Given the description of an element on the screen output the (x, y) to click on. 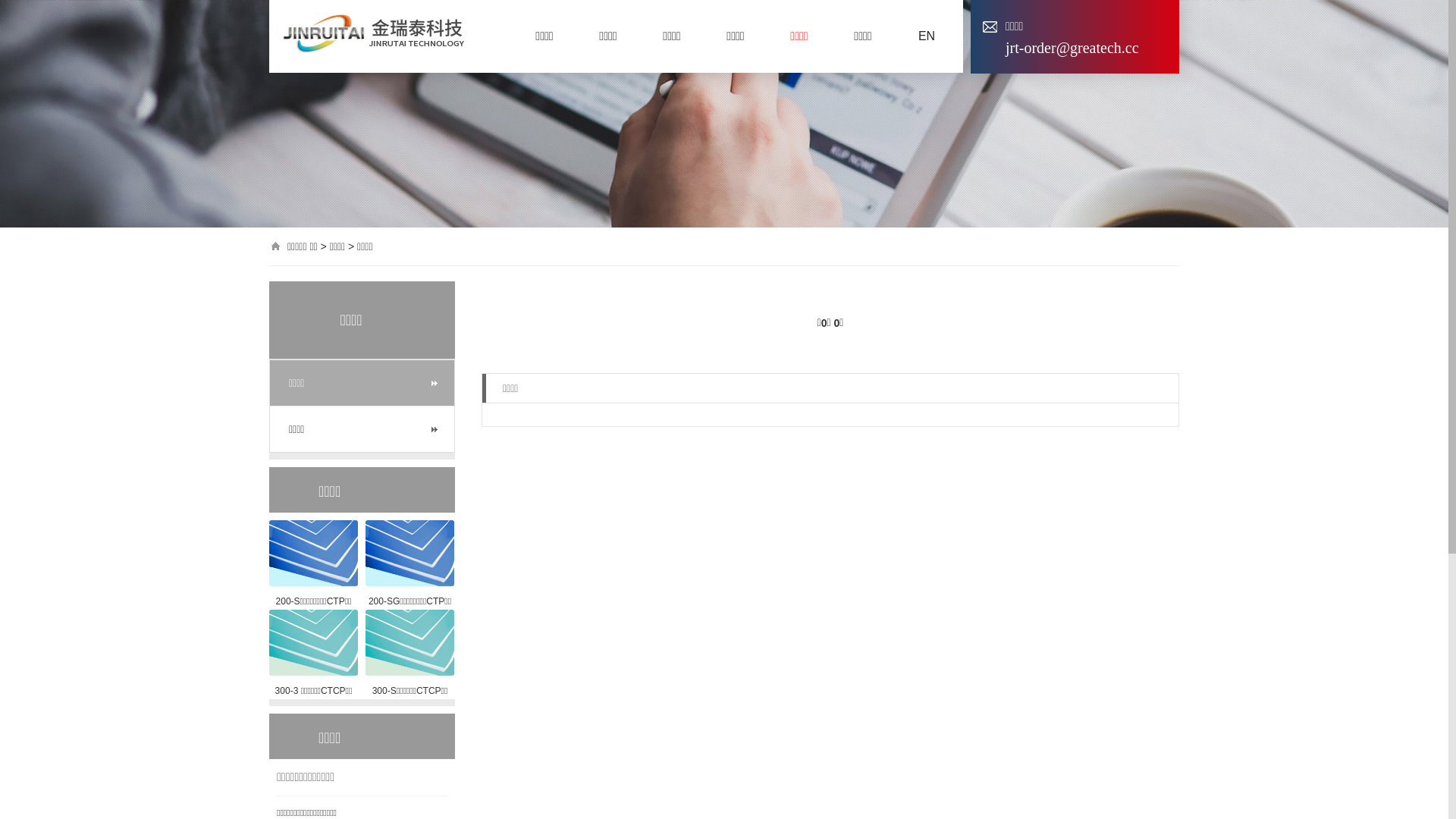
EN Element type: text (926, 36)
